Given the description of an element on the screen output the (x, y) to click on. 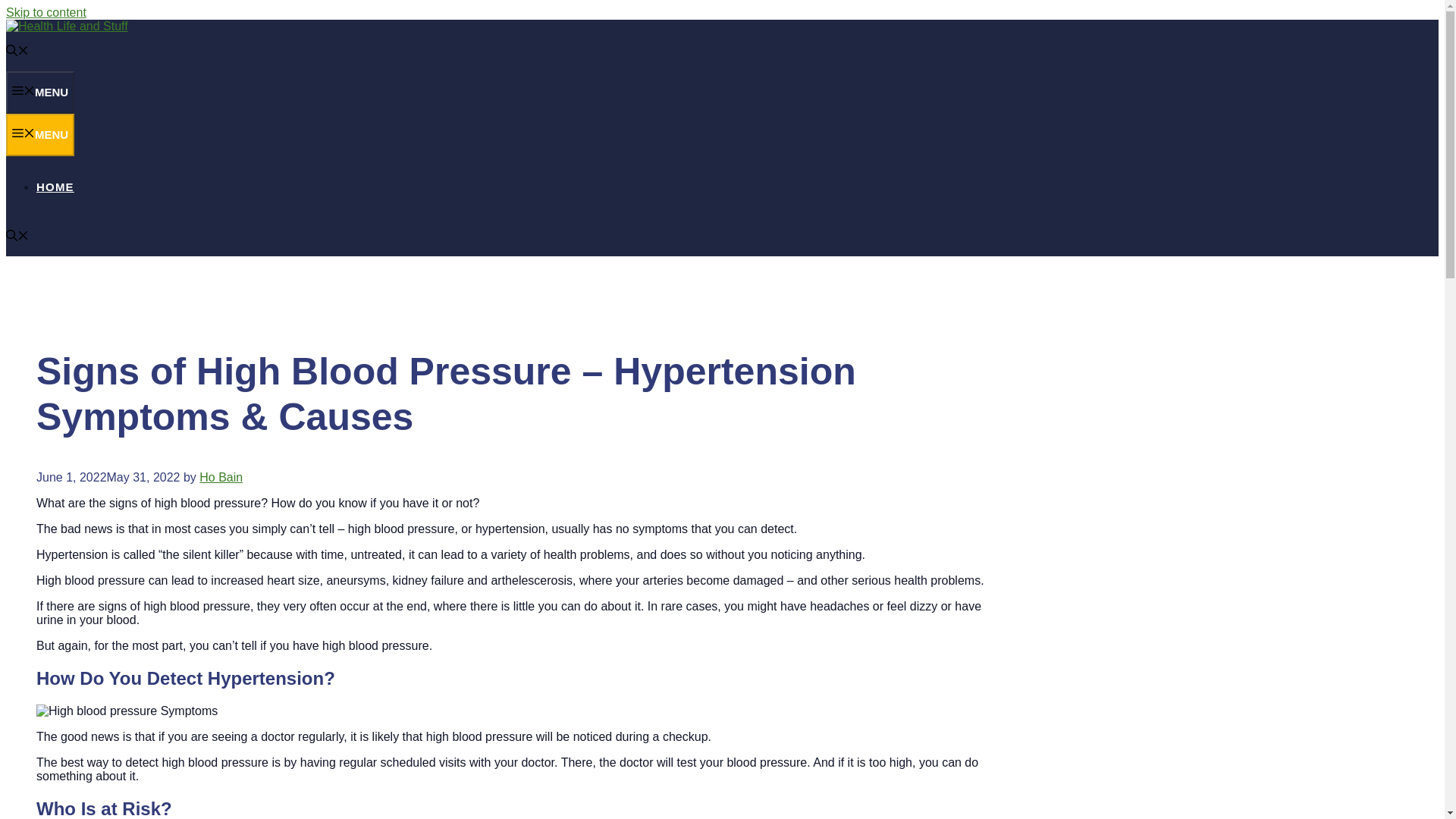
HOME (55, 186)
Ho Bain (221, 477)
View all posts by Ho Bain (221, 477)
MENU (39, 92)
Skip to content (45, 11)
MENU (39, 134)
Skip to content (45, 11)
